Given the description of an element on the screen output the (x, y) to click on. 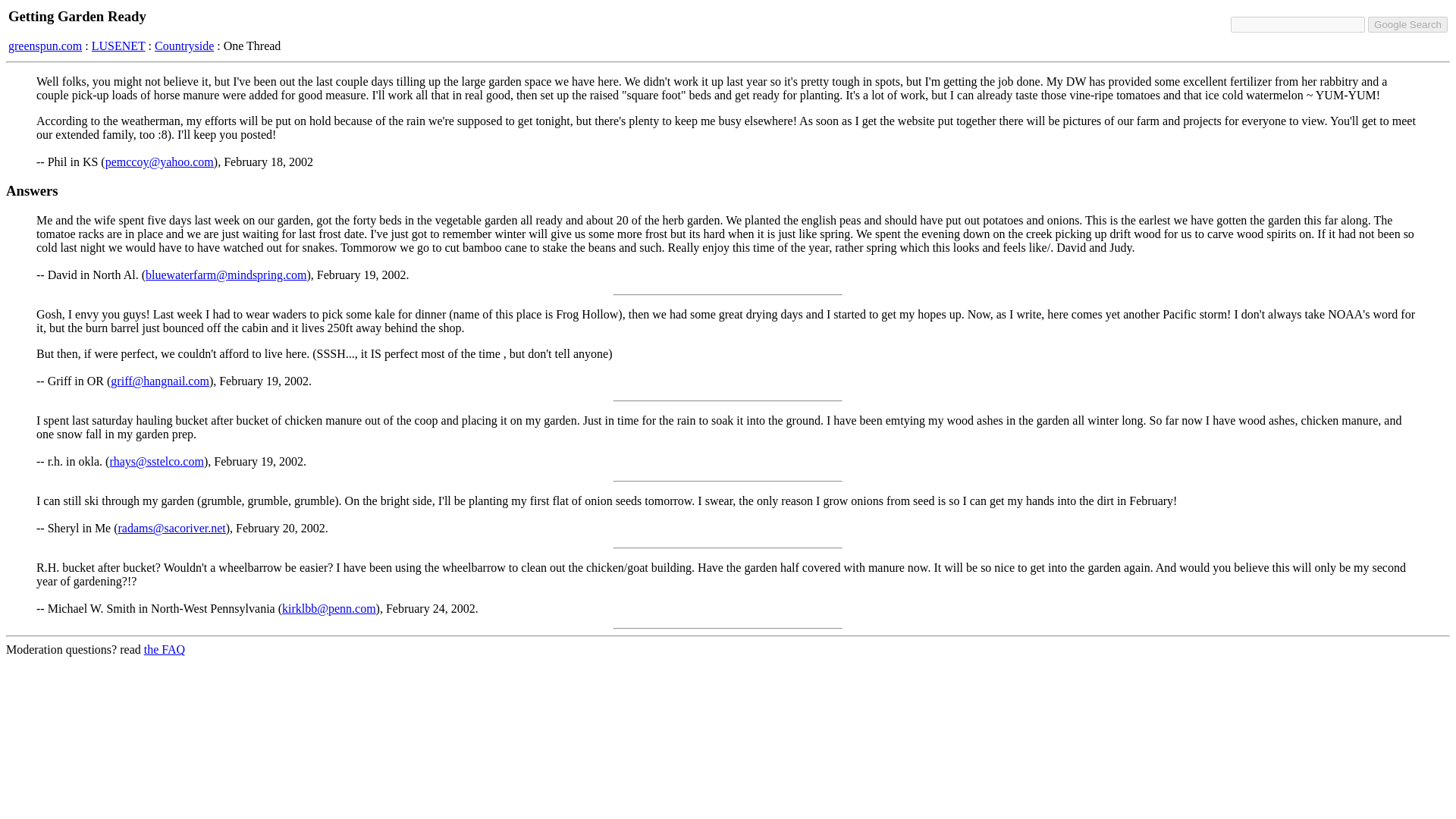
greenspun.com (44, 45)
the FAQ (164, 649)
Countryside (184, 45)
Google Search (1407, 24)
LUSENET (118, 45)
Google Search (1407, 24)
